Given the description of an element on the screen output the (x, y) to click on. 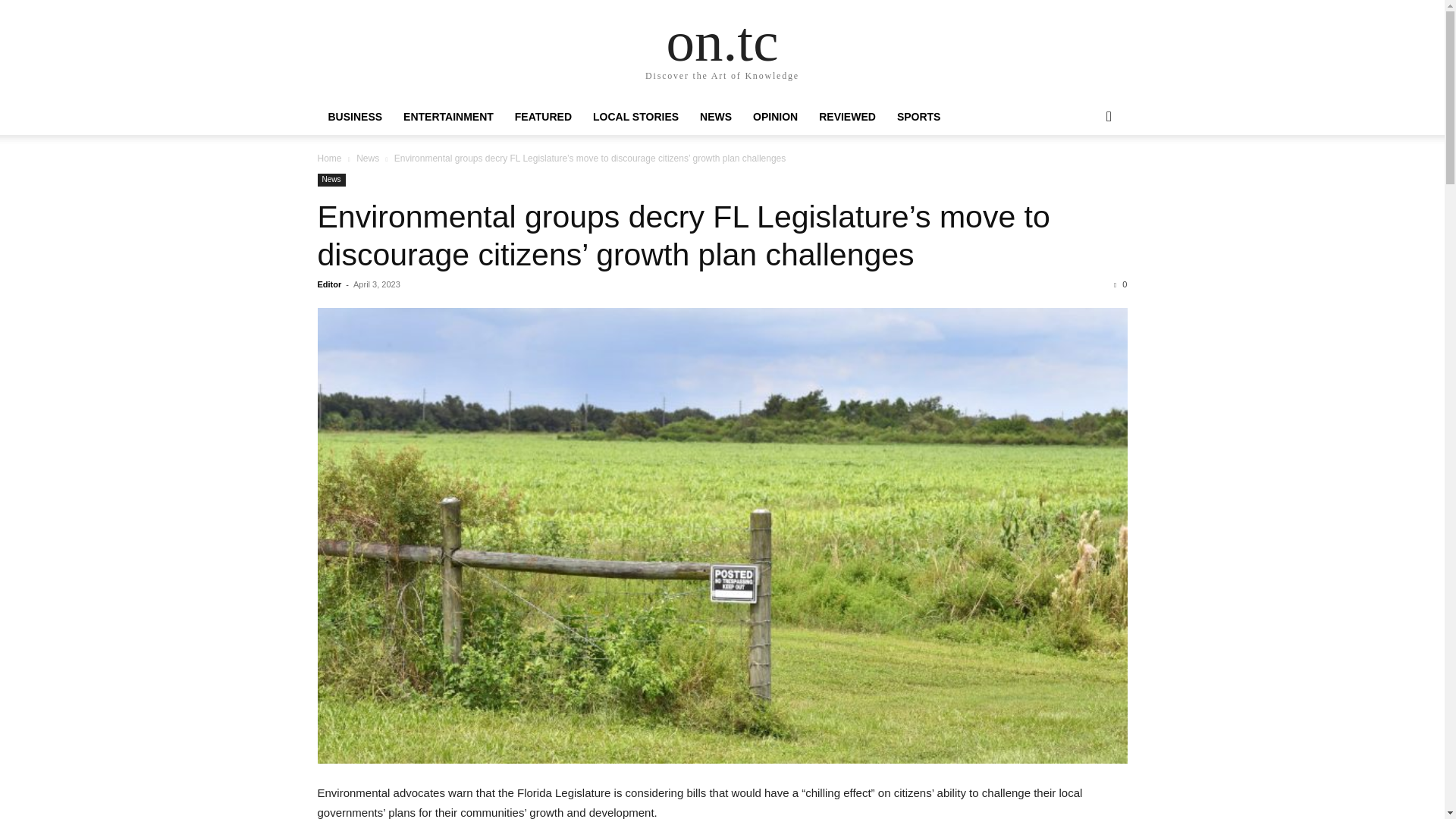
REVIEWED (847, 116)
Search (1085, 177)
NEWS (715, 116)
FEATURED (542, 116)
BUSINESS (355, 116)
Editor (328, 284)
OPINION (775, 116)
View all posts in News (367, 158)
Home (328, 158)
ENTERTAINMENT (448, 116)
SPORTS (919, 116)
on.tc (722, 41)
News (367, 158)
News (331, 179)
0 (1119, 284)
